Given the description of an element on the screen output the (x, y) to click on. 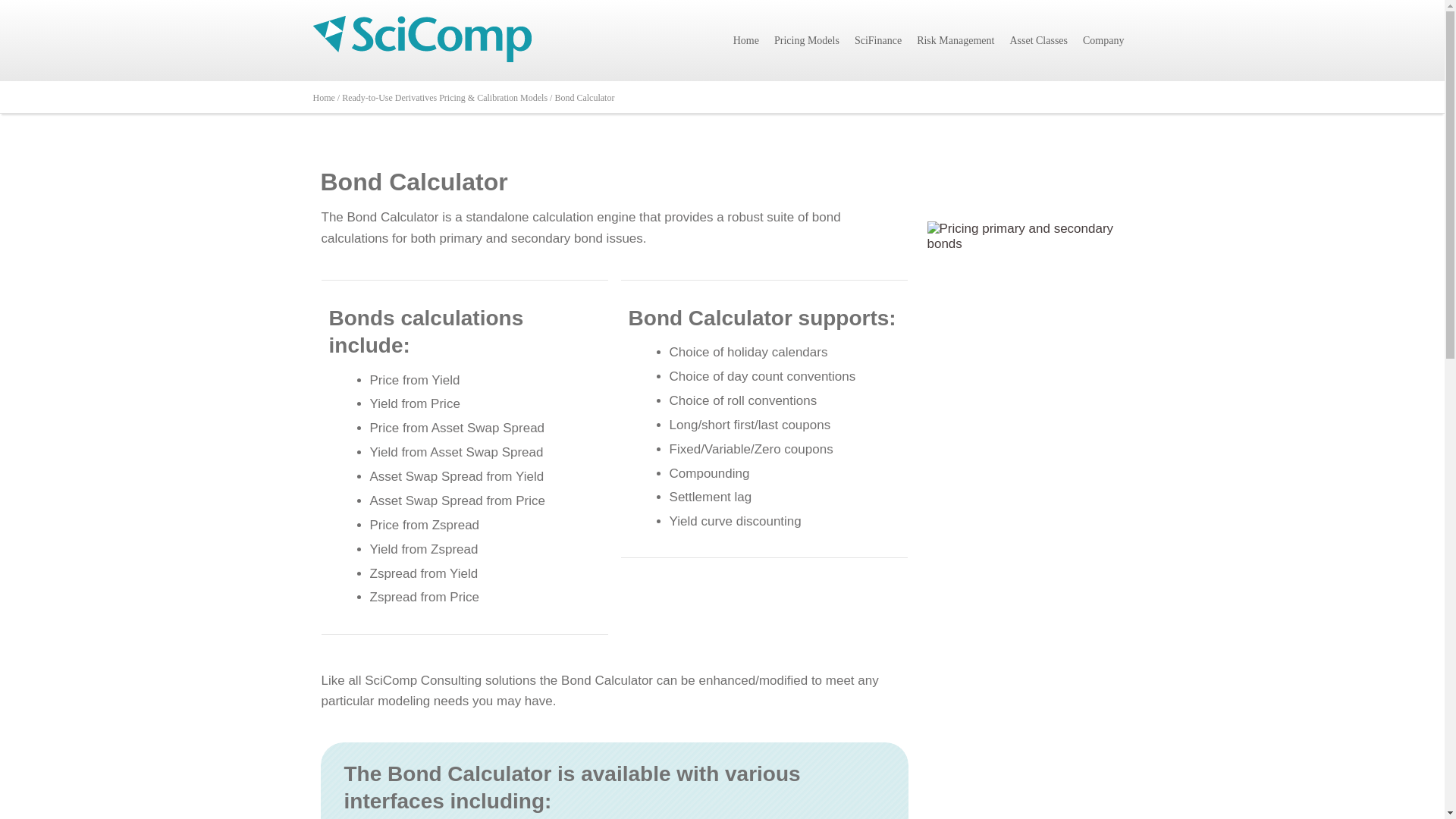
pricing-primary-secondary-bonds (1025, 287)
Risk Management (954, 40)
Asset Classes (1038, 40)
Home (746, 40)
SciFinance (877, 40)
Company (1103, 40)
Pricing Models (807, 40)
